Given the description of an element on the screen output the (x, y) to click on. 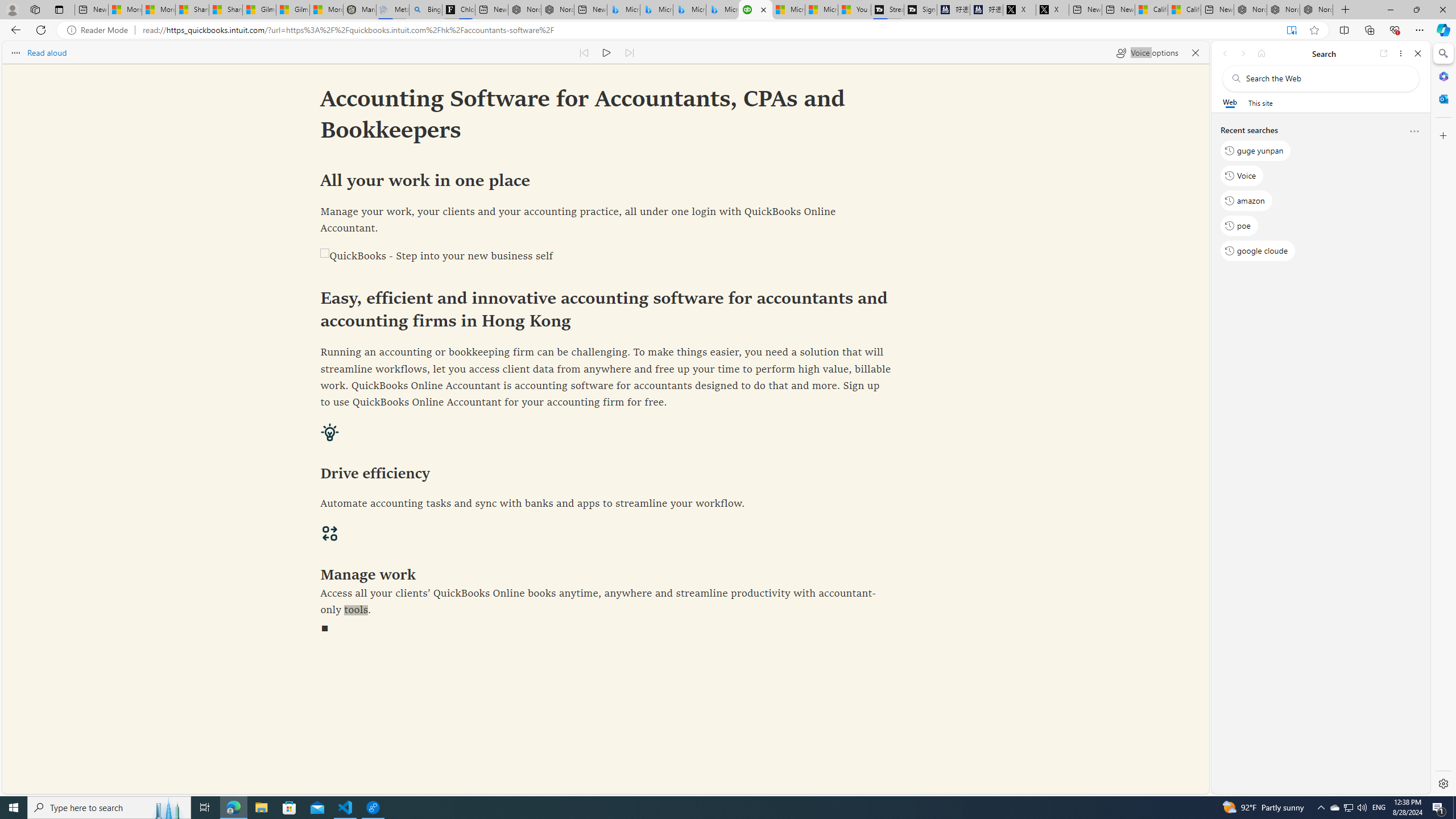
Settings (1442, 783)
Microsoft 365 (1442, 76)
Accounting Software for Accountants, CPAs and Bookkeepers (755, 9)
Gilma and Hector both pose tropical trouble for Hawaii (292, 9)
Forward (1242, 53)
